Given the description of an element on the screen output the (x, y) to click on. 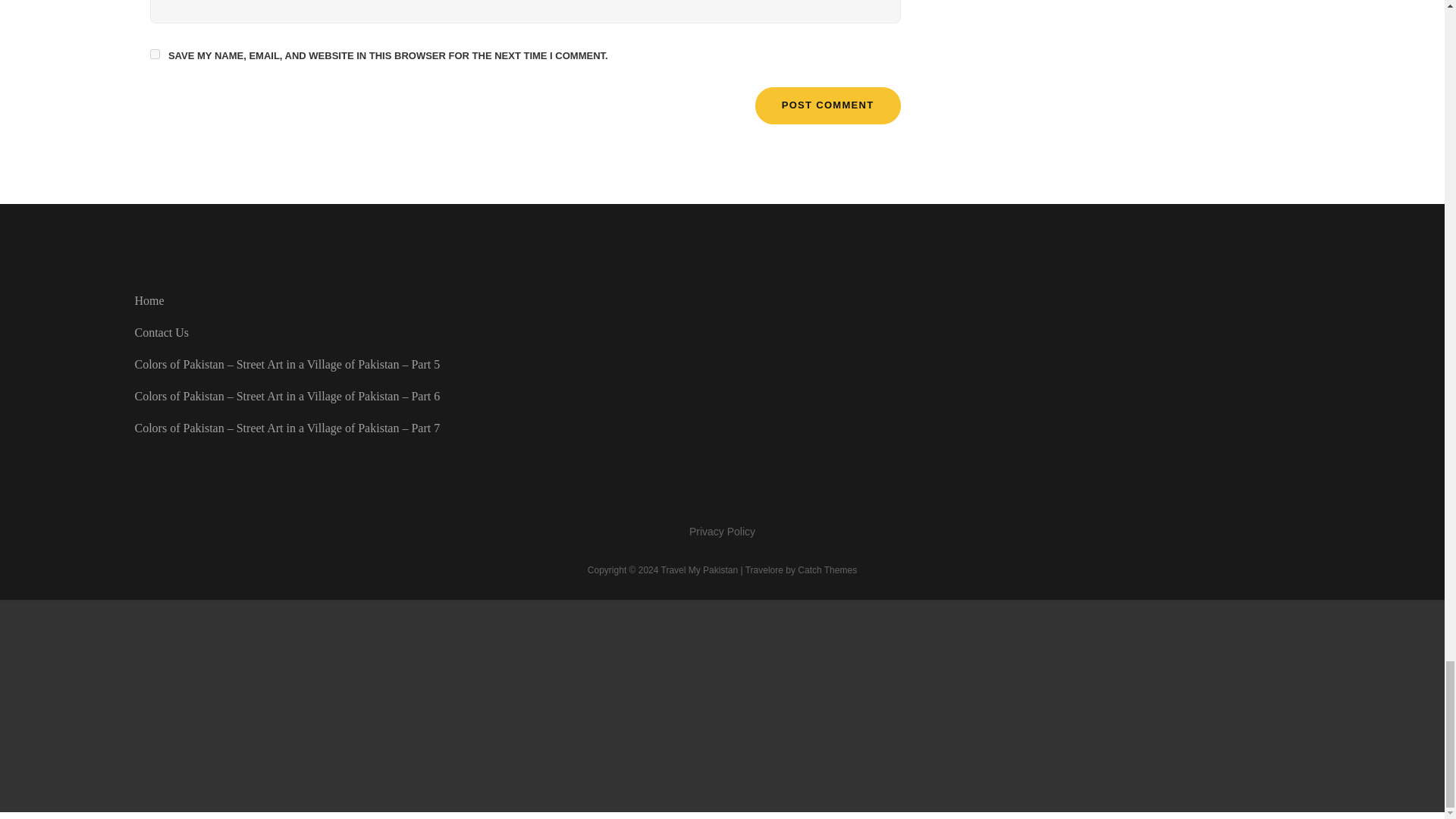
Post Comment (828, 105)
Post Comment (828, 105)
yes (154, 53)
